Given the description of an element on the screen output the (x, y) to click on. 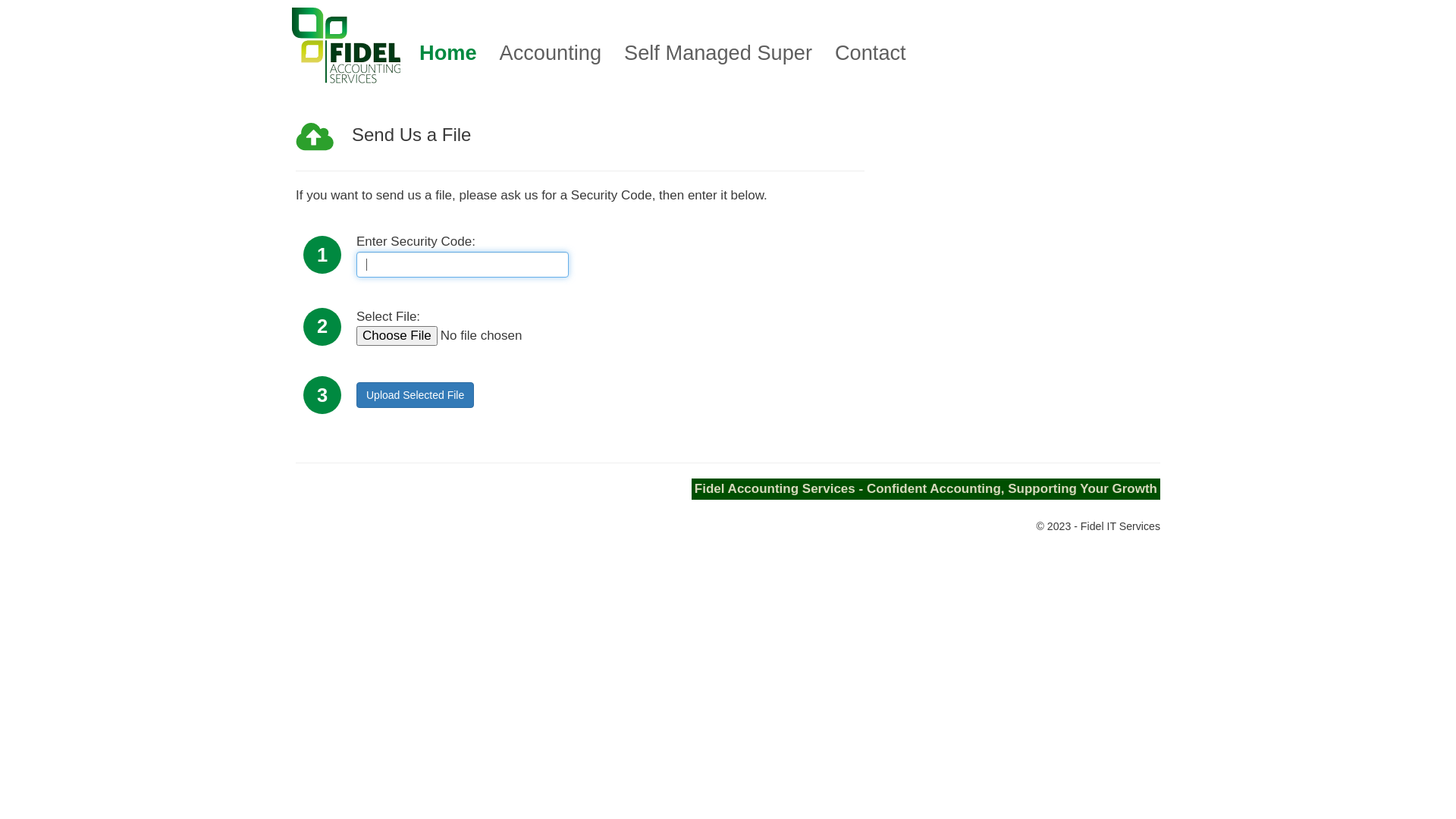
Contact Element type: text (870, 52)
Upload Selected File Element type: text (414, 394)
Home Element type: text (447, 52)
Accounting Element type: text (550, 52)
Self Managed Super Element type: text (717, 52)
